Given the description of an element on the screen output the (x, y) to click on. 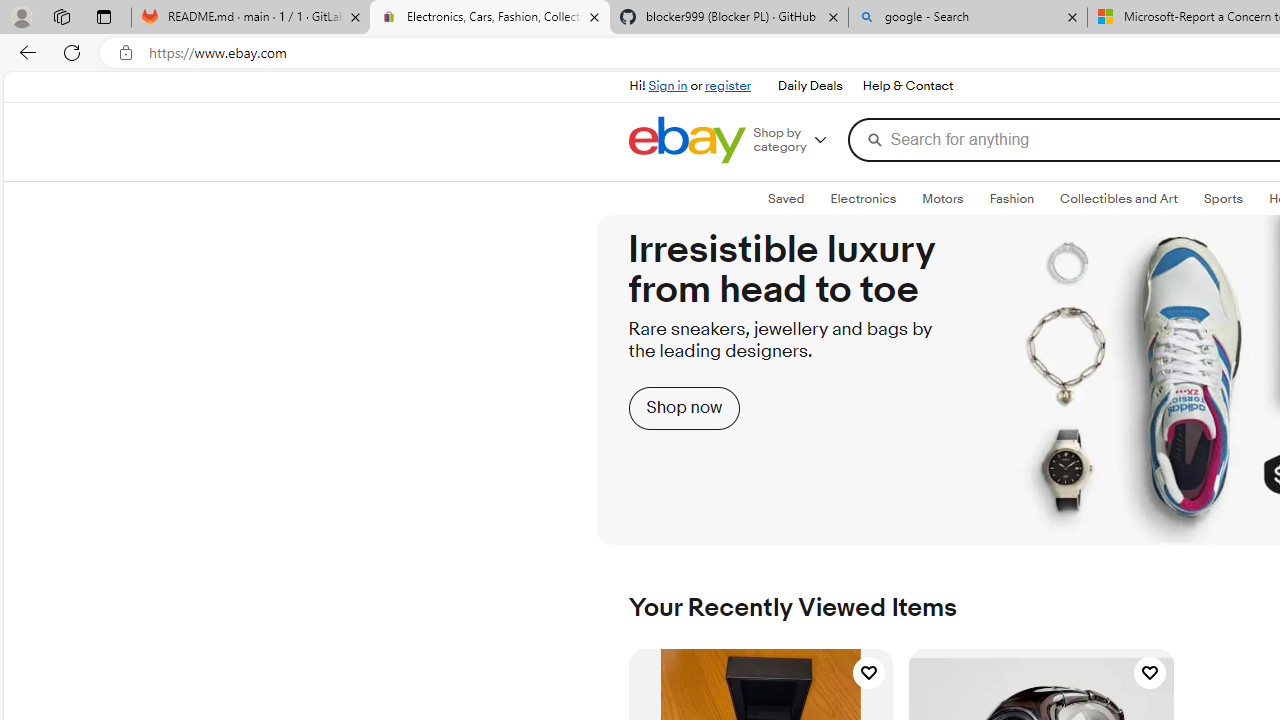
Collectibles and ArtExpand: Collectibles and Art (1118, 199)
MotorsExpand: Motors (942, 199)
Shop by category (797, 140)
Help & Contact (906, 85)
Fashion (1012, 198)
Motors (942, 198)
eBay Home (687, 139)
eBay Home (687, 139)
Collectibles and Art (1118, 198)
